Given the description of an element on the screen output the (x, y) to click on. 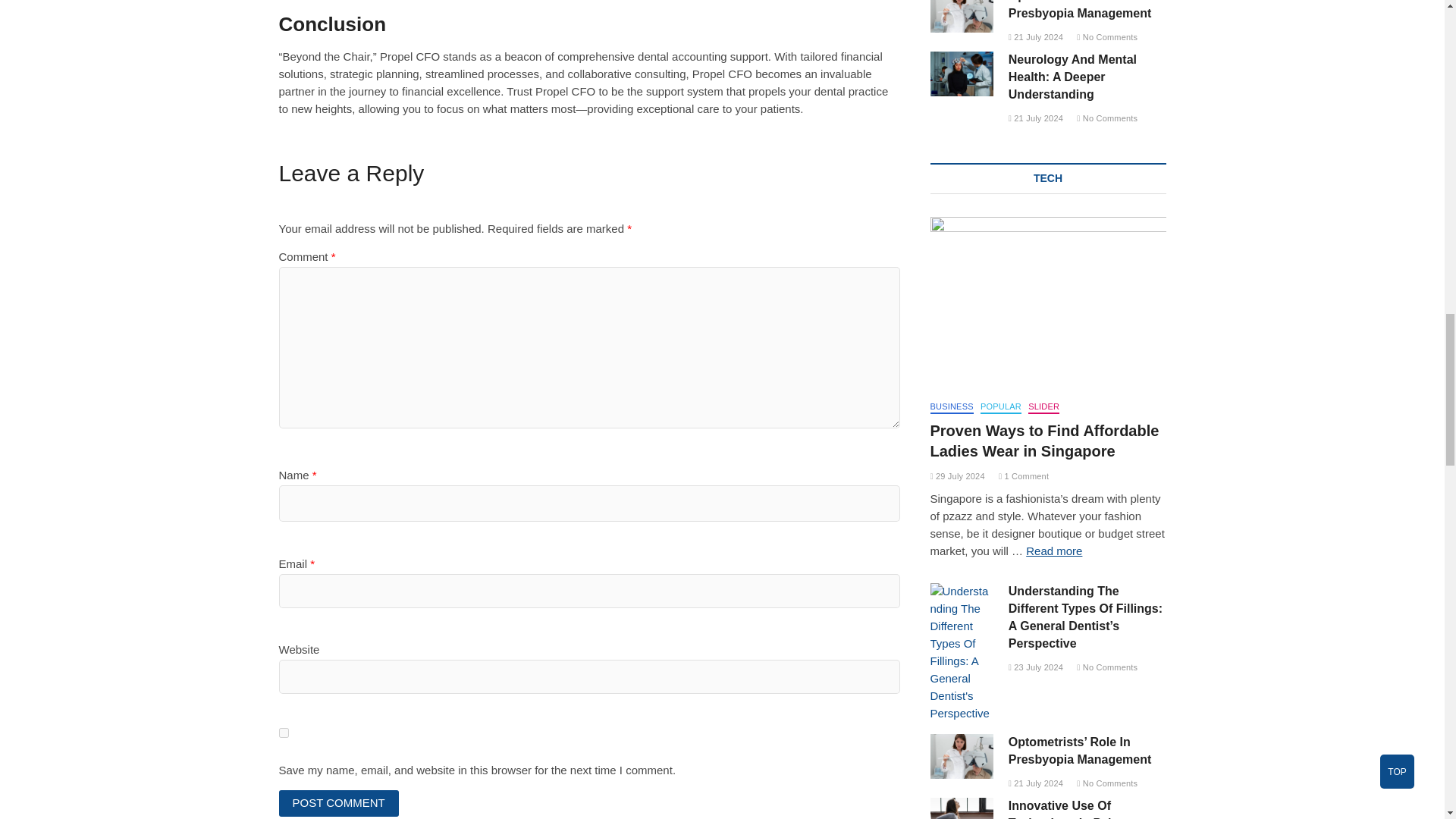
yes (283, 732)
Post Comment (338, 803)
